Given the description of an element on the screen output the (x, y) to click on. 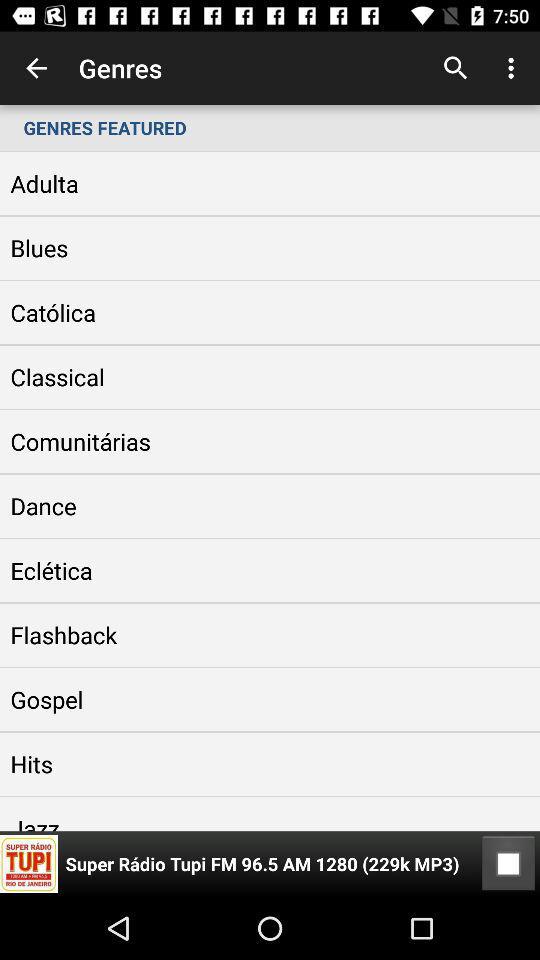
select the item at the bottom right corner (508, 863)
